Given the description of an element on the screen output the (x, y) to click on. 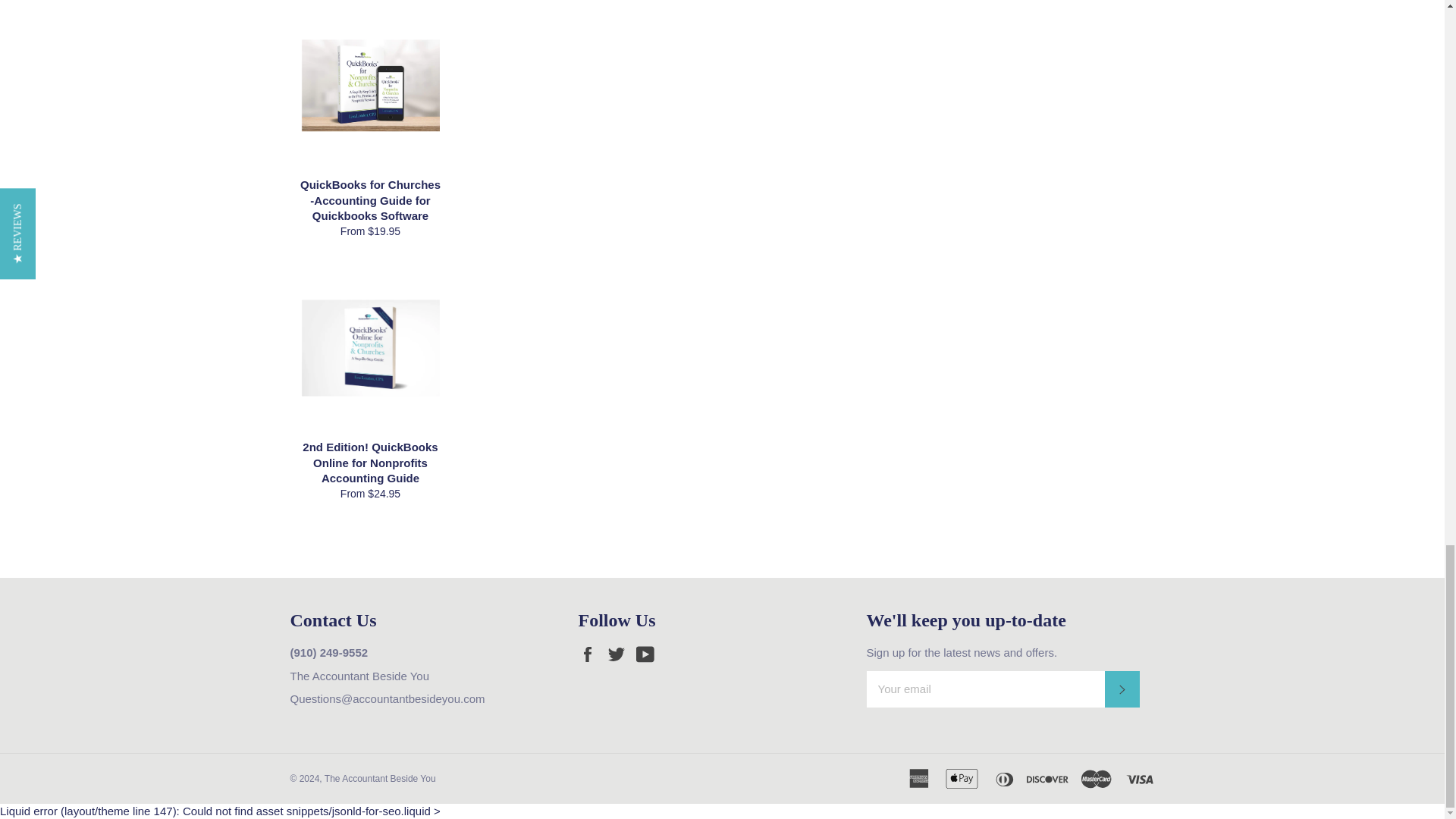
The Accountant Beside You on Twitter (620, 654)
The Accountant Beside You on Facebook (591, 654)
The Accountant Beside You on YouTube (649, 654)
